Given the description of an element on the screen output the (x, y) to click on. 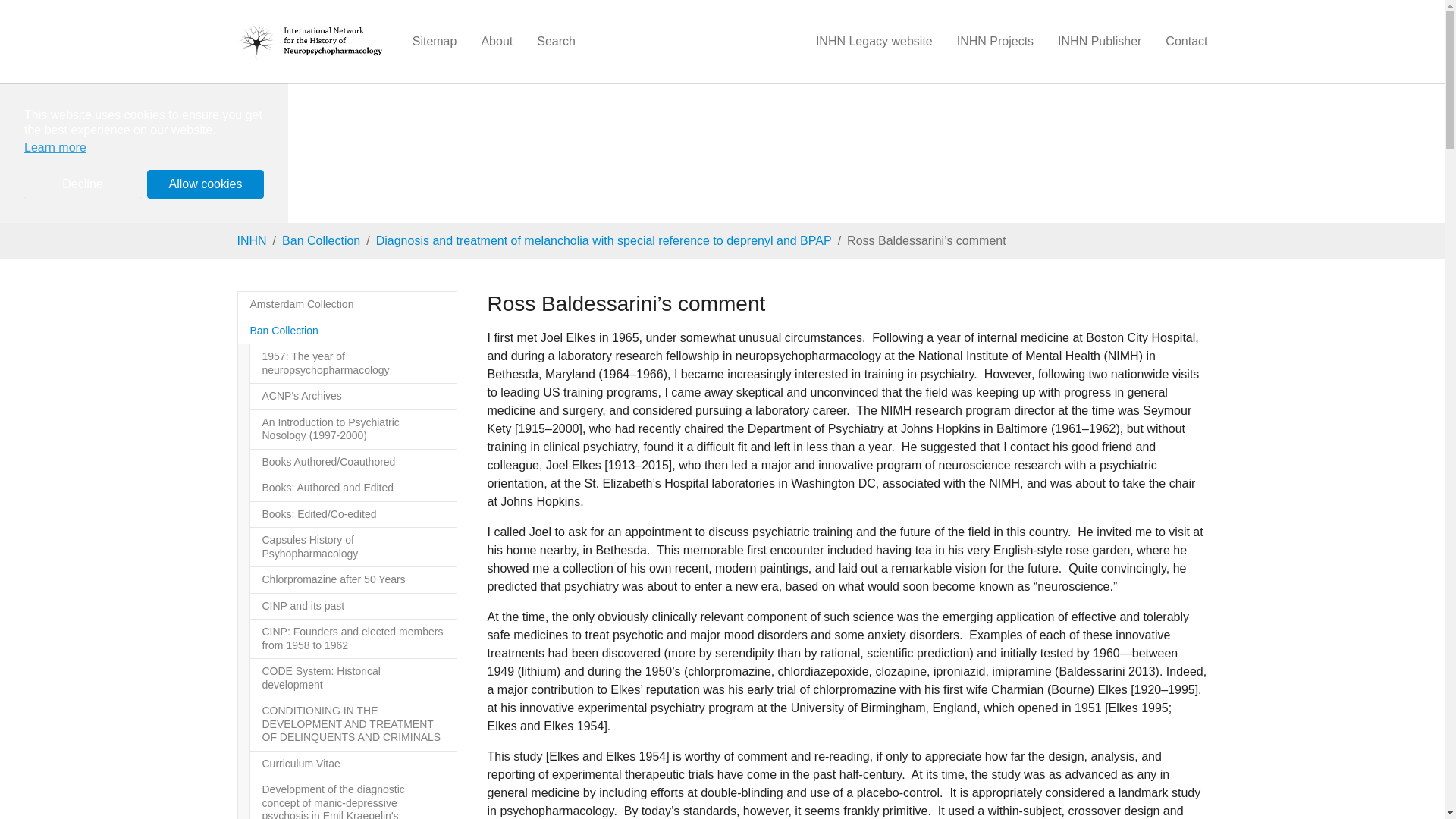
Search (556, 41)
Search (556, 41)
Sitemap (434, 41)
Decline (82, 184)
INHN Legacy website (873, 41)
INHN Legacy website (873, 41)
About (496, 41)
INHN Projects (994, 41)
INHN Publisher (1099, 41)
Learn more (54, 148)
INHN Projects (994, 41)
Sitemap (434, 41)
Allow cookies (205, 184)
About (496, 41)
